Given the description of an element on the screen output the (x, y) to click on. 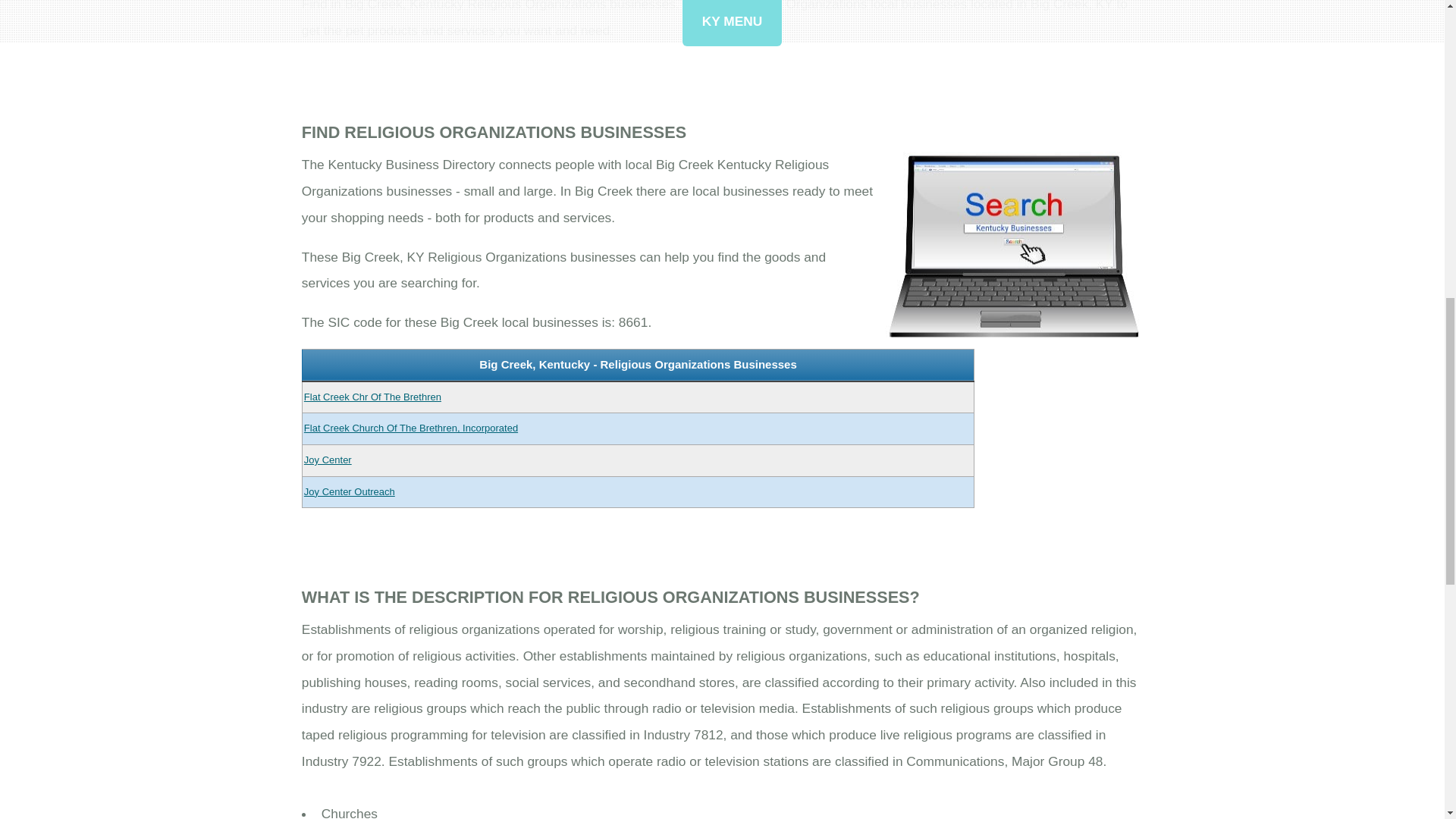
Joy Center Outreach (349, 491)
Flat Creek Church Of The Brethren, Incorporated (411, 428)
Flat Creek Chr Of The Brethren (372, 396)
Religious Organizations (1013, 246)
Joy Center (328, 460)
